Given the description of an element on the screen output the (x, y) to click on. 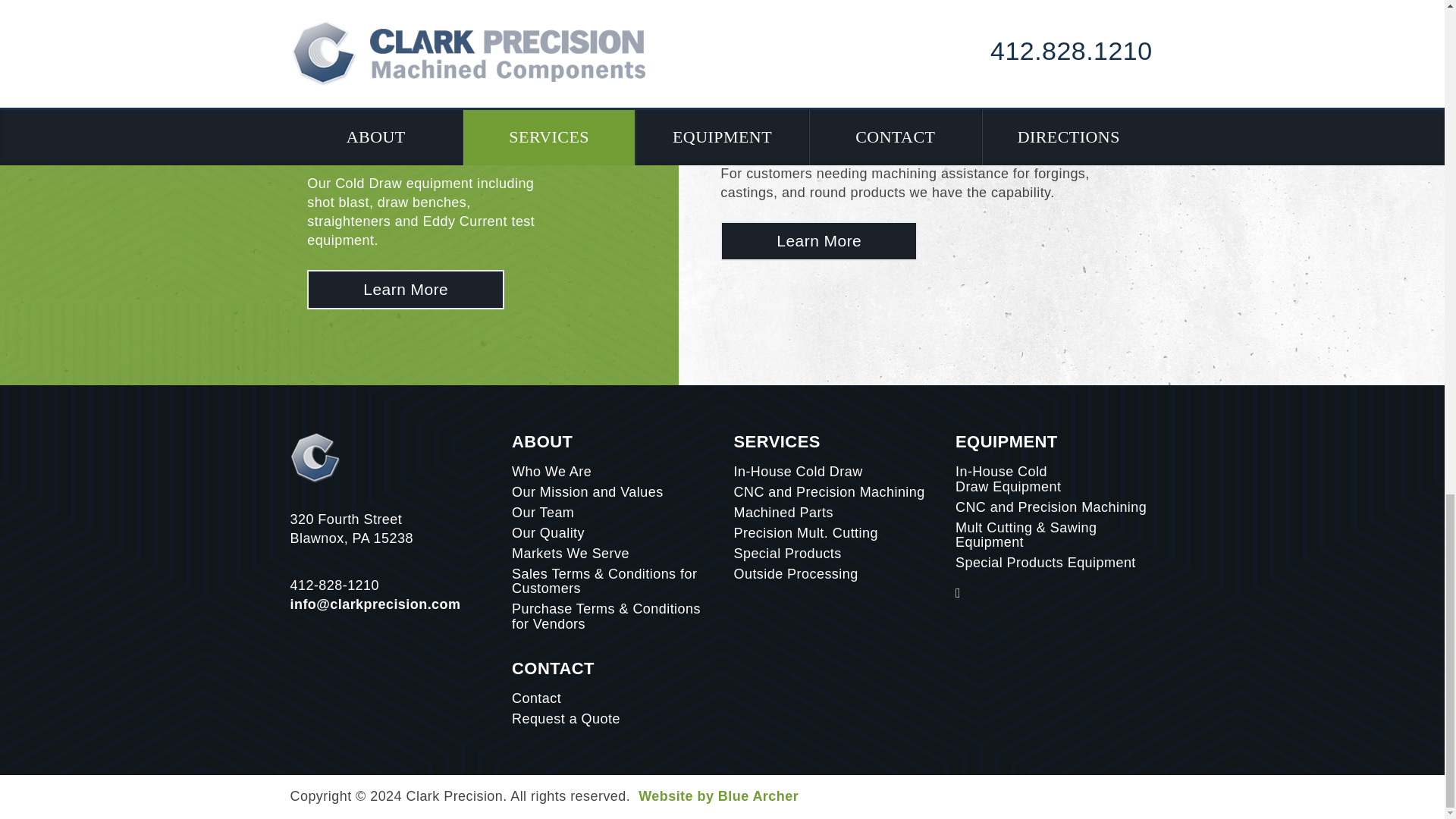
Learn More (405, 289)
Clark Precision Machined Components (405, 289)
Clark Precision (314, 456)
Learn More (818, 241)
Clark Precision Machined Components (818, 241)
Call Clark Precision (333, 585)
Email Clark Precision (374, 604)
